Given the description of an element on the screen output the (x, y) to click on. 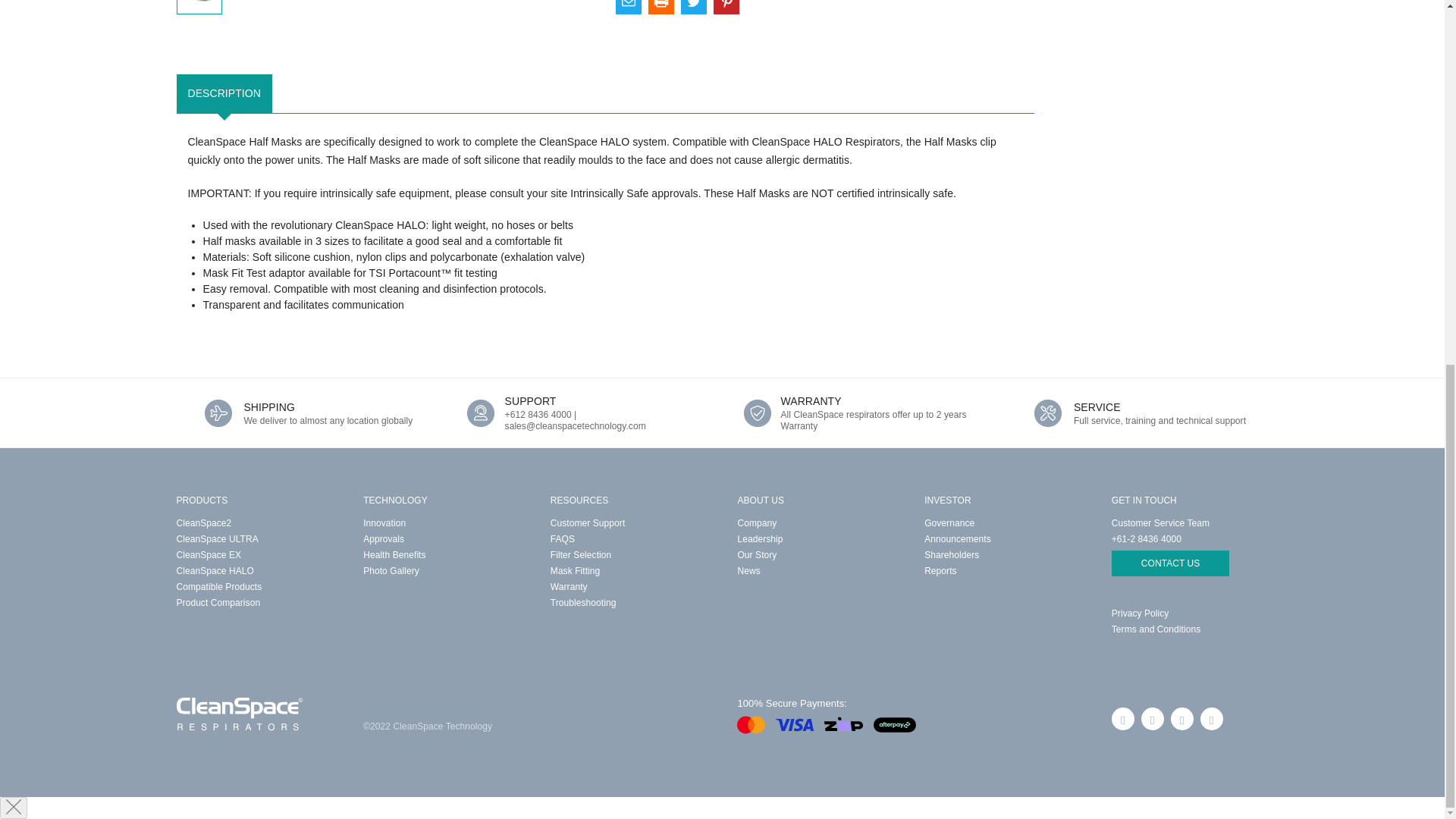
CleanSpace HALO Half Mask (198, 3)
